Given the description of an element on the screen output the (x, y) to click on. 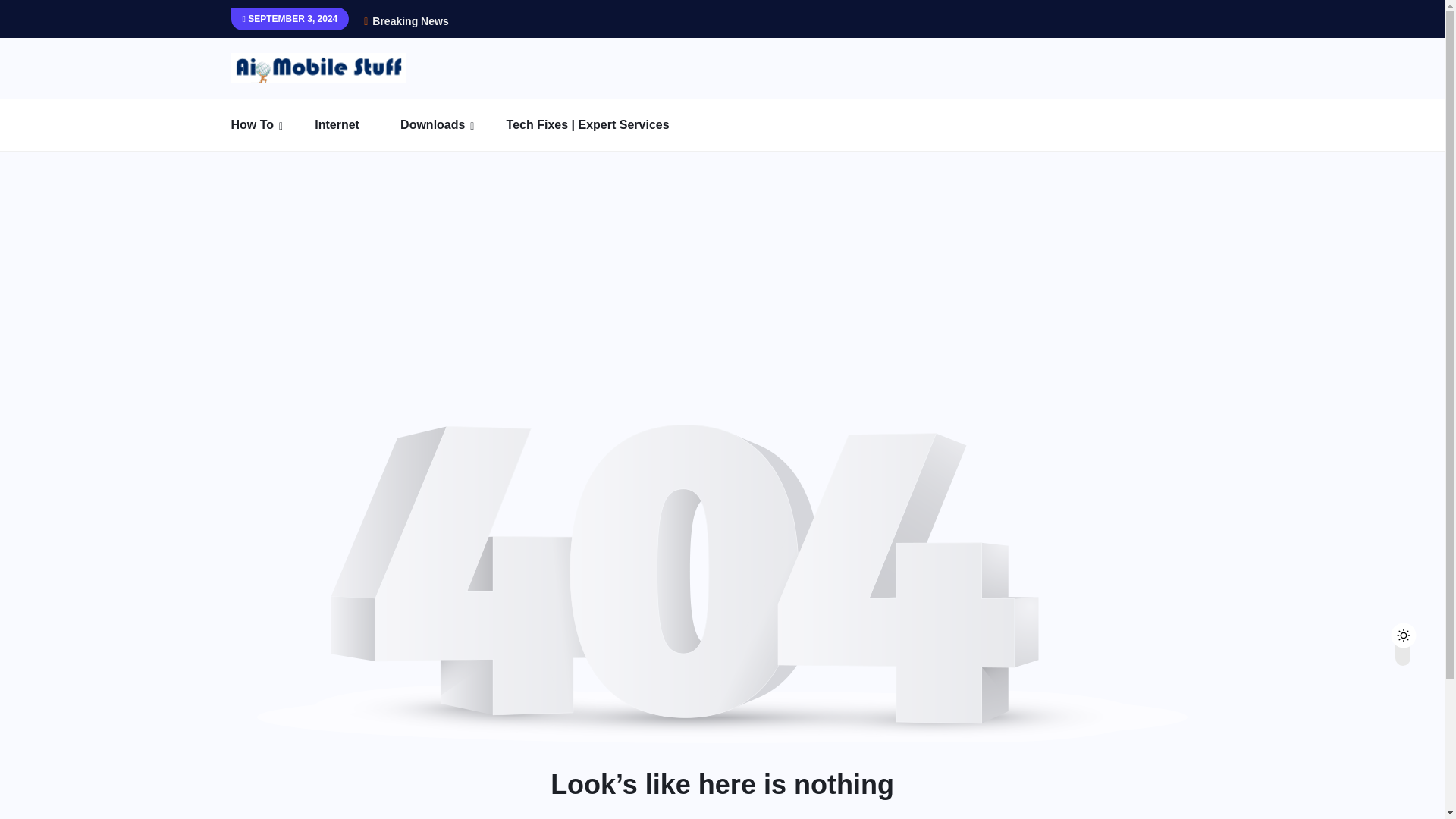
Wallpapers (494, 165)
on (1415, 631)
Downloads (451, 124)
Internet (355, 124)
How To (270, 124)
Android (325, 165)
